Given the description of an element on the screen output the (x, y) to click on. 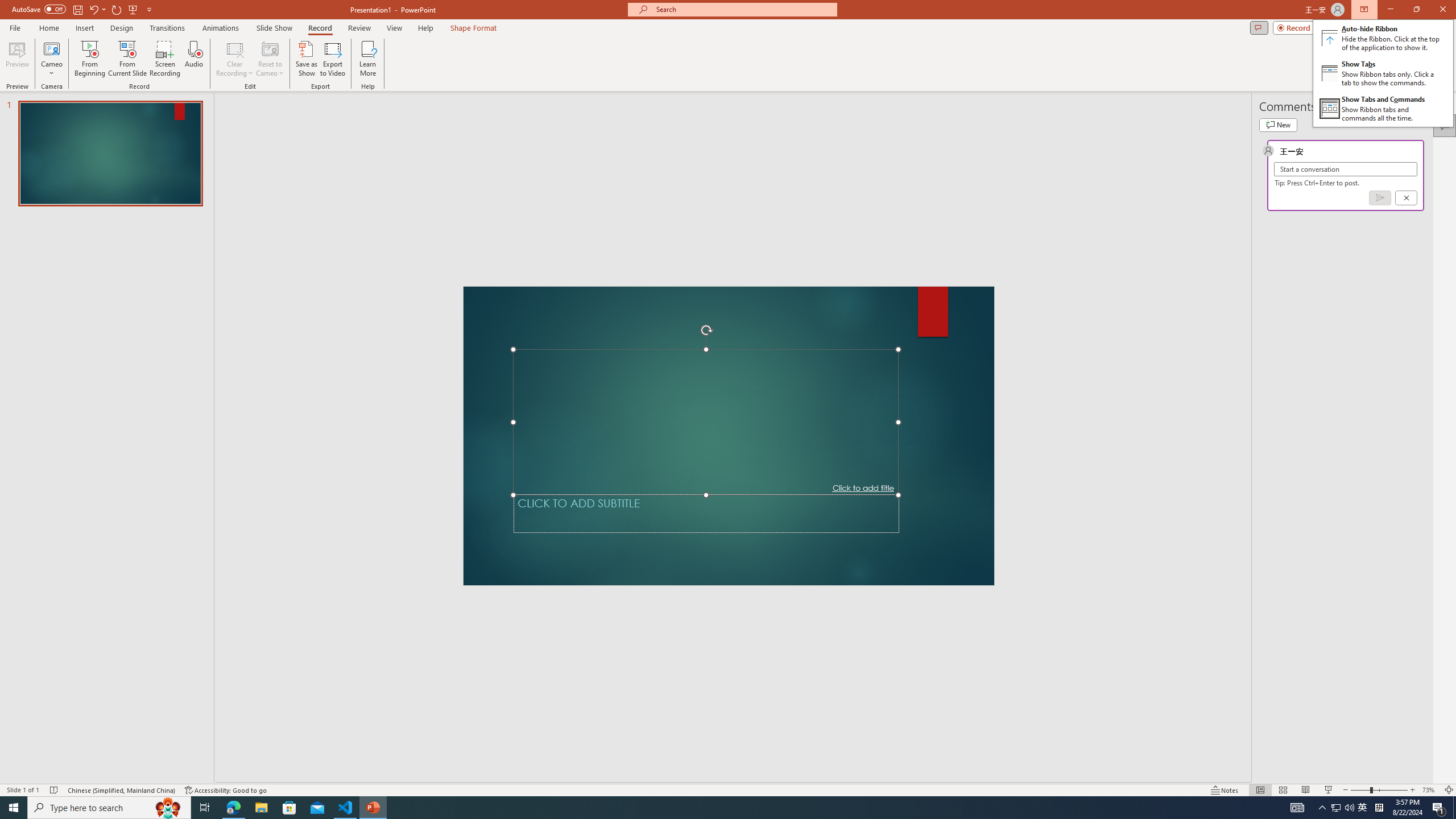
Audio (193, 58)
PowerPoint - 1 running window (373, 807)
Screen Recording (165, 58)
Insert (83, 28)
Search highlights icon opens search home window (167, 807)
Learn More (368, 58)
Class: MsoCommandBar (728, 789)
Undo (92, 9)
Preview (17, 58)
Zoom 73% (1430, 790)
Slide (110, 153)
